Given the description of an element on the screen output the (x, y) to click on. 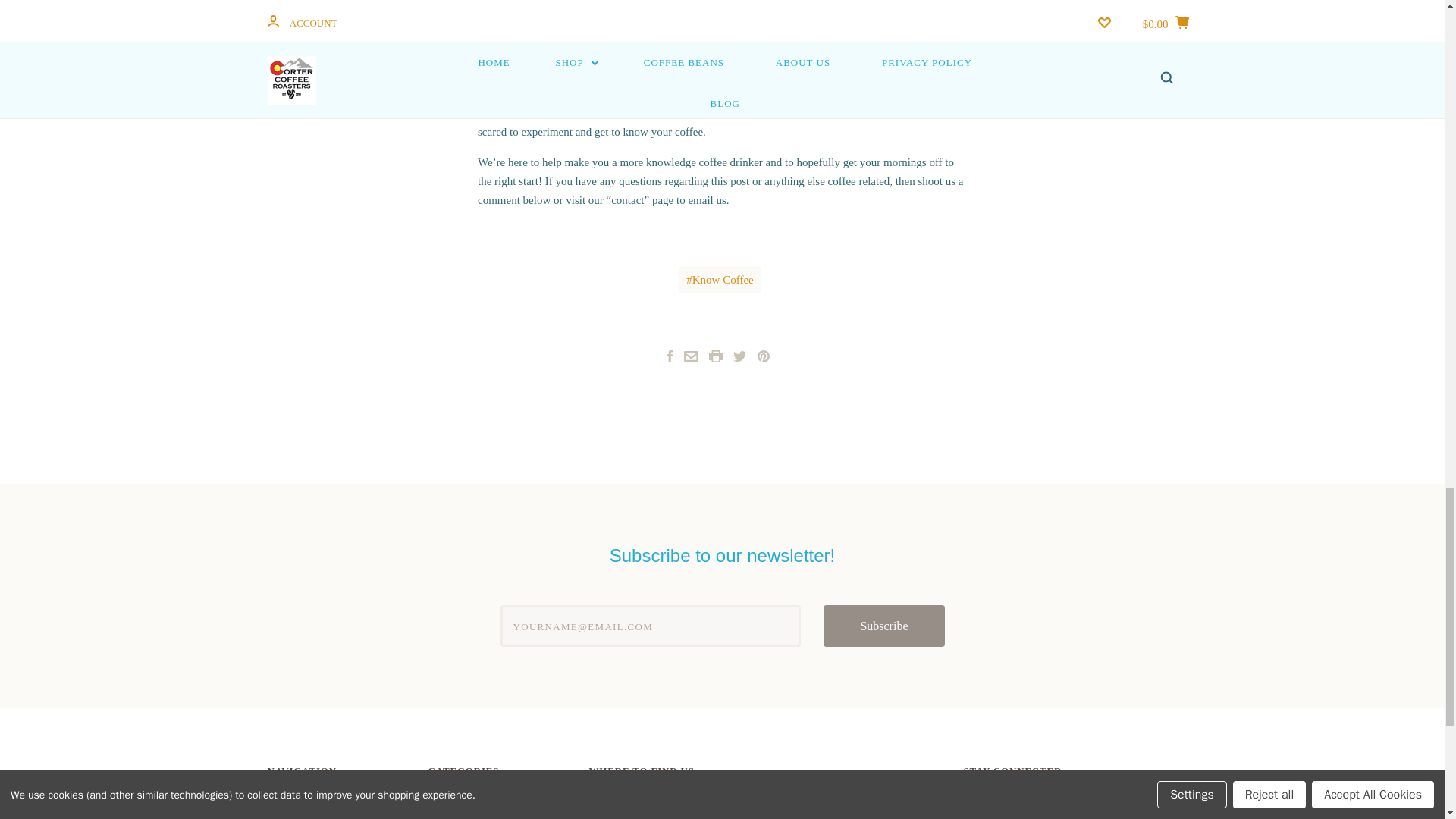
About Us (286, 818)
printer (714, 356)
pinterest (763, 358)
Subscribe (883, 626)
instagram (968, 797)
Know Coffee (968, 799)
printer (719, 279)
Instagram (714, 358)
email (968, 799)
pinterest (691, 356)
twitter (763, 356)
YouTube (739, 356)
Subscribe (1024, 799)
